Given the description of an element on the screen output the (x, y) to click on. 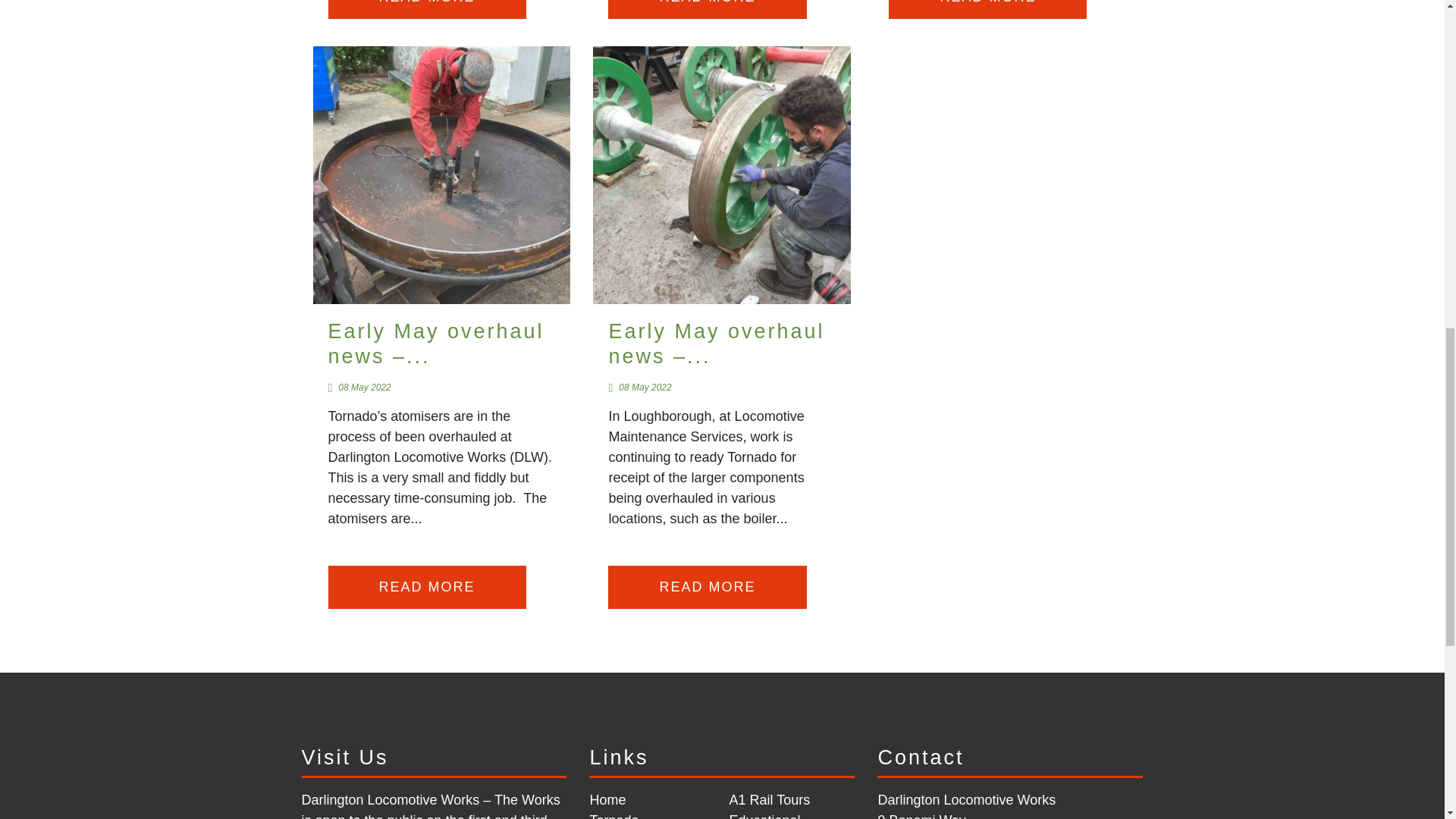
READ MORE (707, 9)
READ MORE (426, 9)
